Given the description of an element on the screen output the (x, y) to click on. 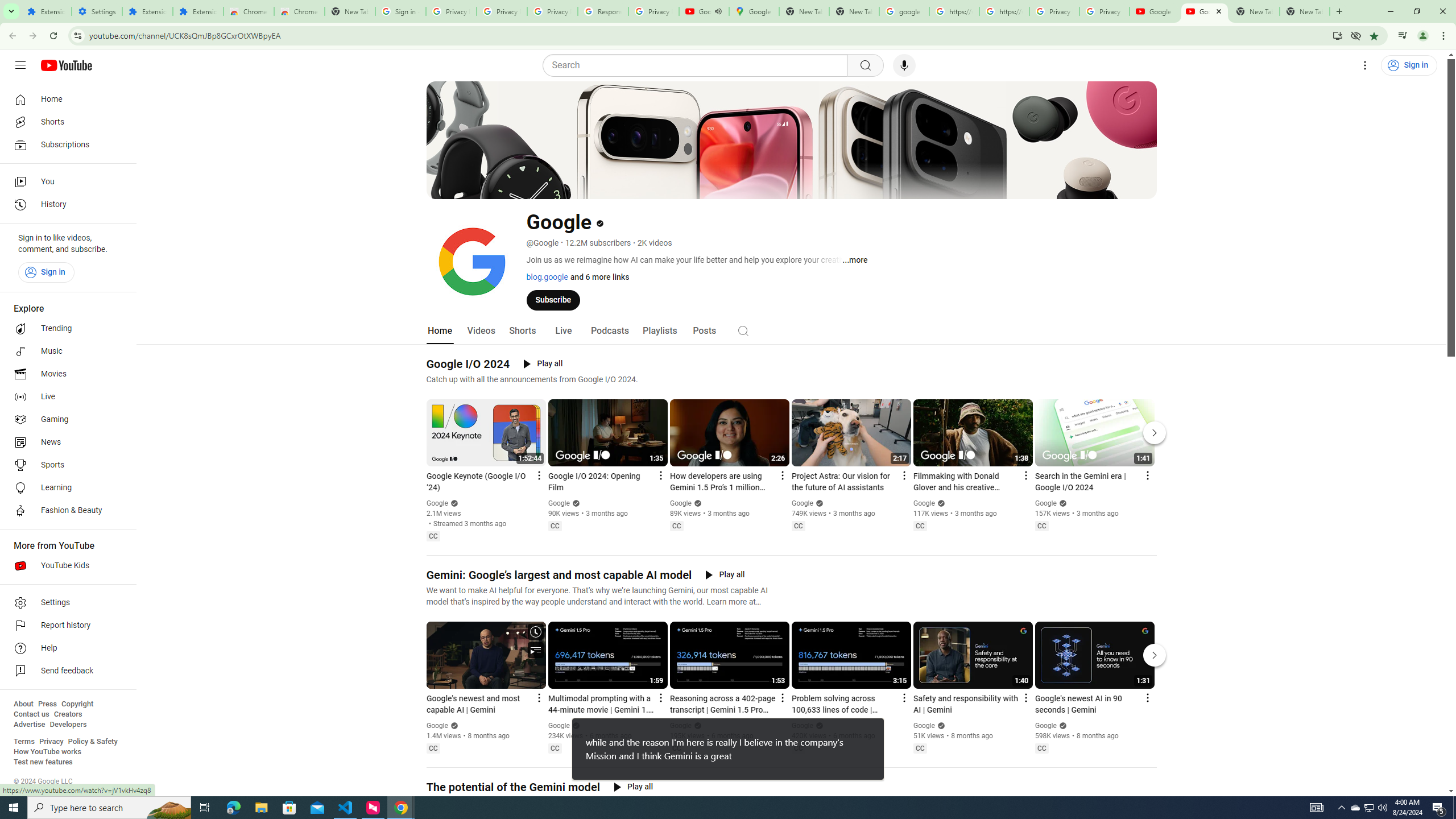
Sports (64, 464)
Copyright (77, 703)
Creators (67, 714)
Podcasts (608, 330)
Subscriptions (64, 144)
New Tab (350, 11)
Contact us (31, 714)
